Given the description of an element on the screen output the (x, y) to click on. 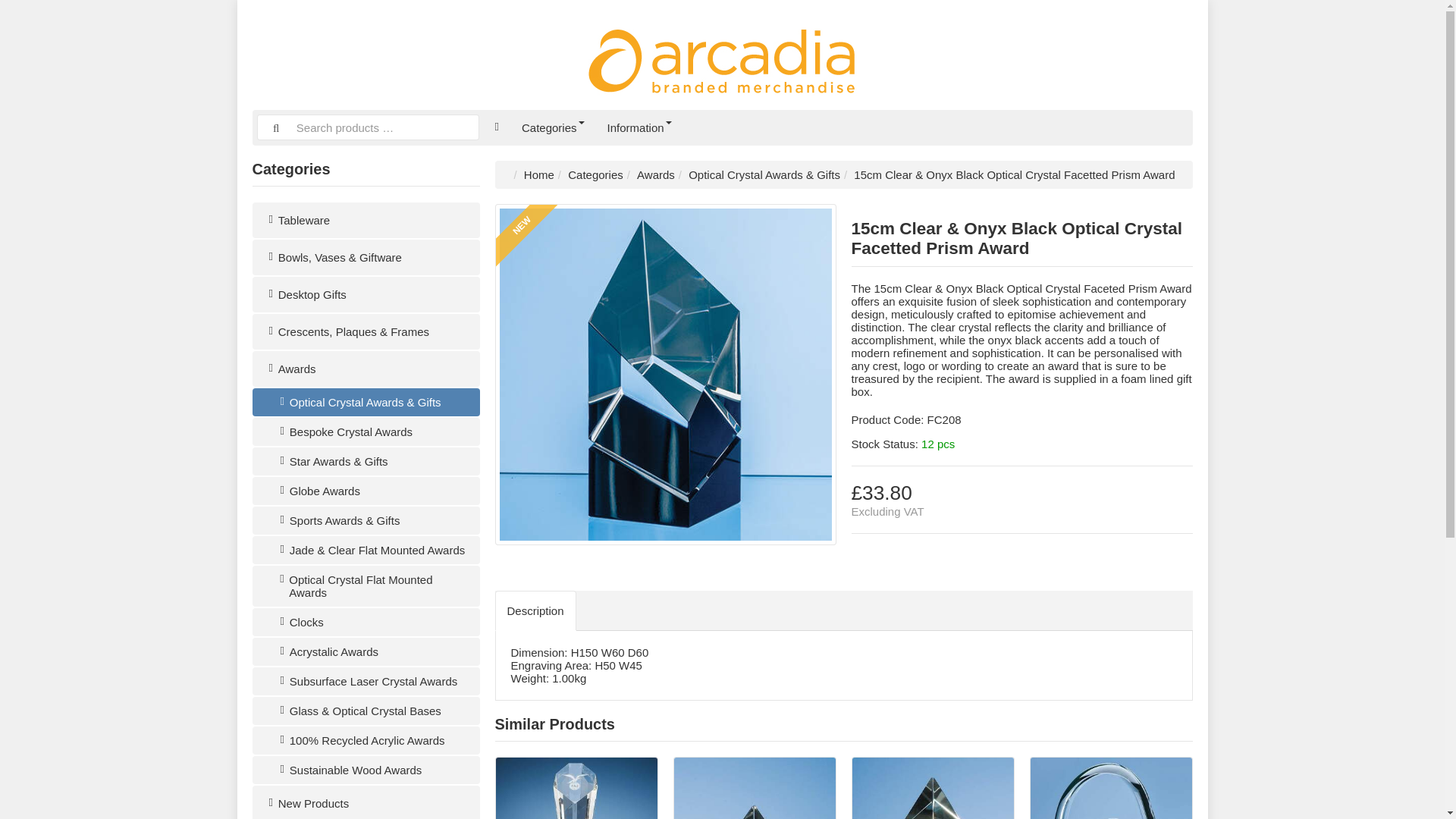
Clocks (365, 622)
Desktop Gifts (365, 294)
Sustainable Wood Awards (365, 769)
New Products (365, 802)
Awards (365, 368)
Categories (595, 174)
Information (638, 127)
Acrystalic Awards (365, 651)
15cm Optical Crystal  High Noon  Award (1110, 788)
26cm Optical Crystal Sloped Facet Column Award (577, 788)
10cm Optical Crystal Sloping Diamond (932, 788)
Arcadia Branded Merchandise (722, 54)
Bespoke Crystal Awards (365, 431)
Optical Crystal Flat Mounted Awards (365, 585)
Globe Awards (365, 490)
